Given the description of an element on the screen output the (x, y) to click on. 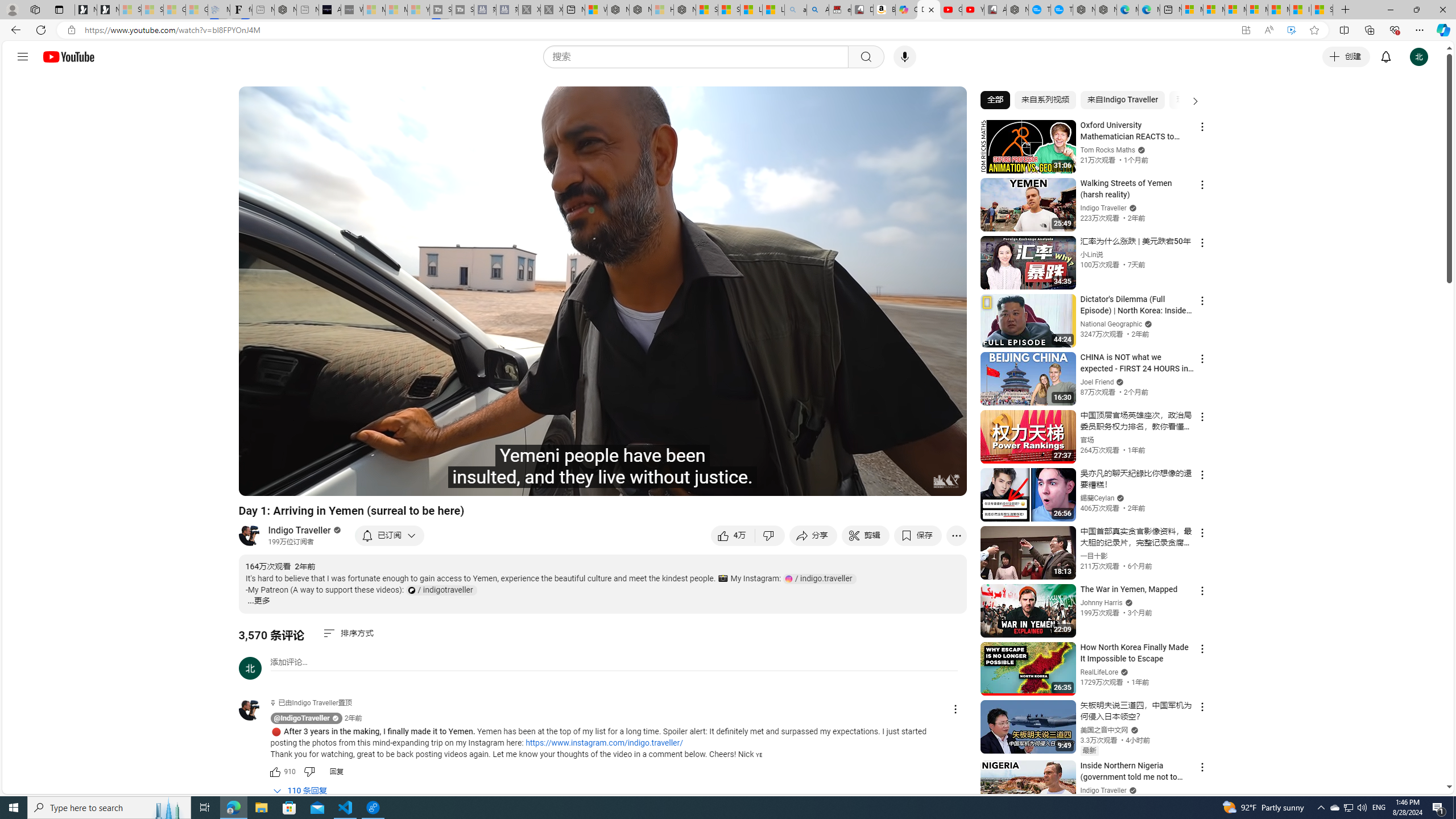
I Gained 20 Pounds of Muscle in 30 Days! | Watch (1300, 9)
Nordace - #1 Japanese Best-Seller - Siena Smart Backpack (285, 9)
App available. Install YouTube (1245, 29)
